Given the description of an element on the screen output the (x, y) to click on. 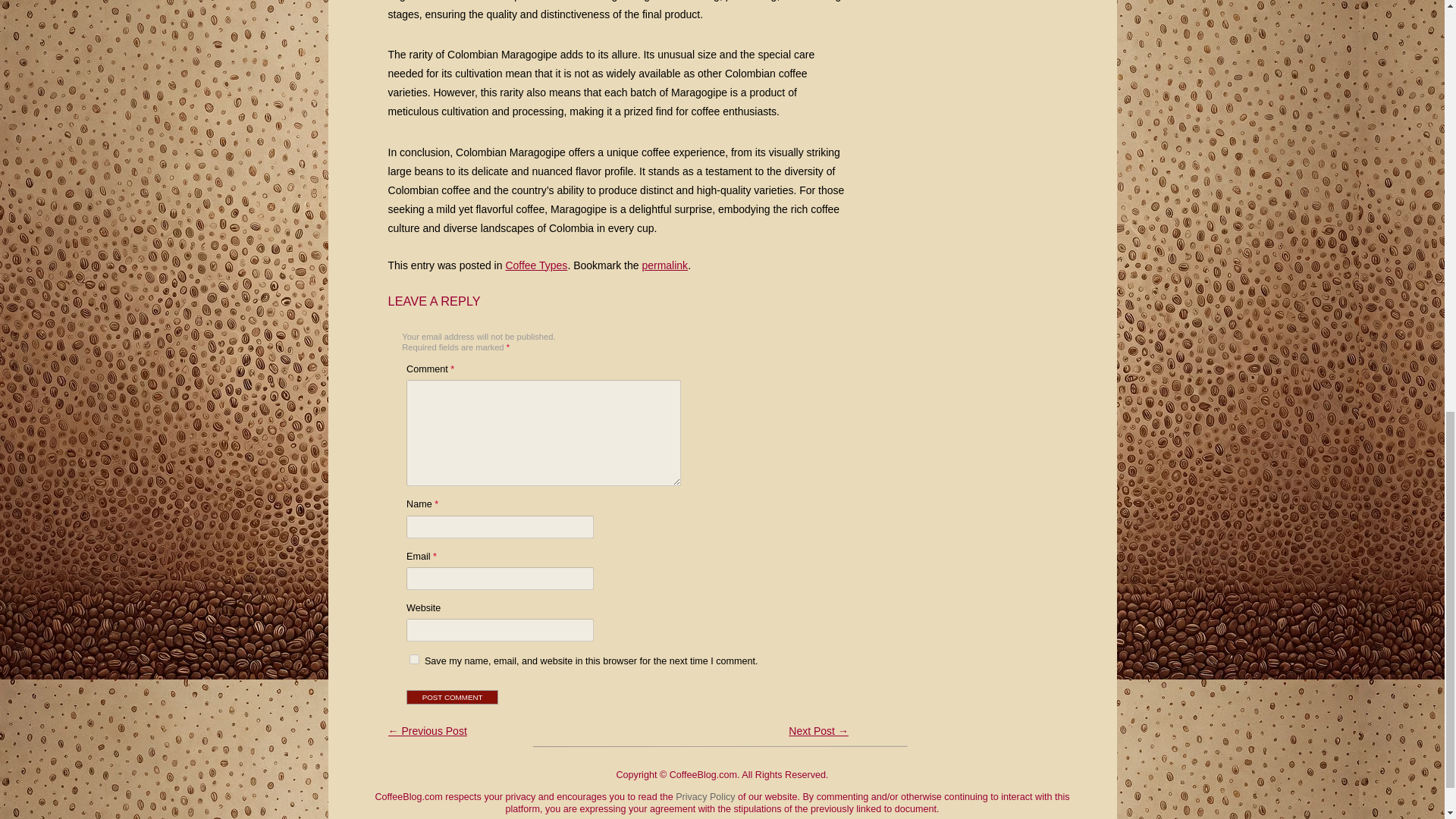
permalink (664, 265)
Post Comment (451, 697)
Privacy Policy (705, 796)
yes (414, 659)
Post Comment (451, 697)
Coffee Types (536, 265)
